Given the description of an element on the screen output the (x, y) to click on. 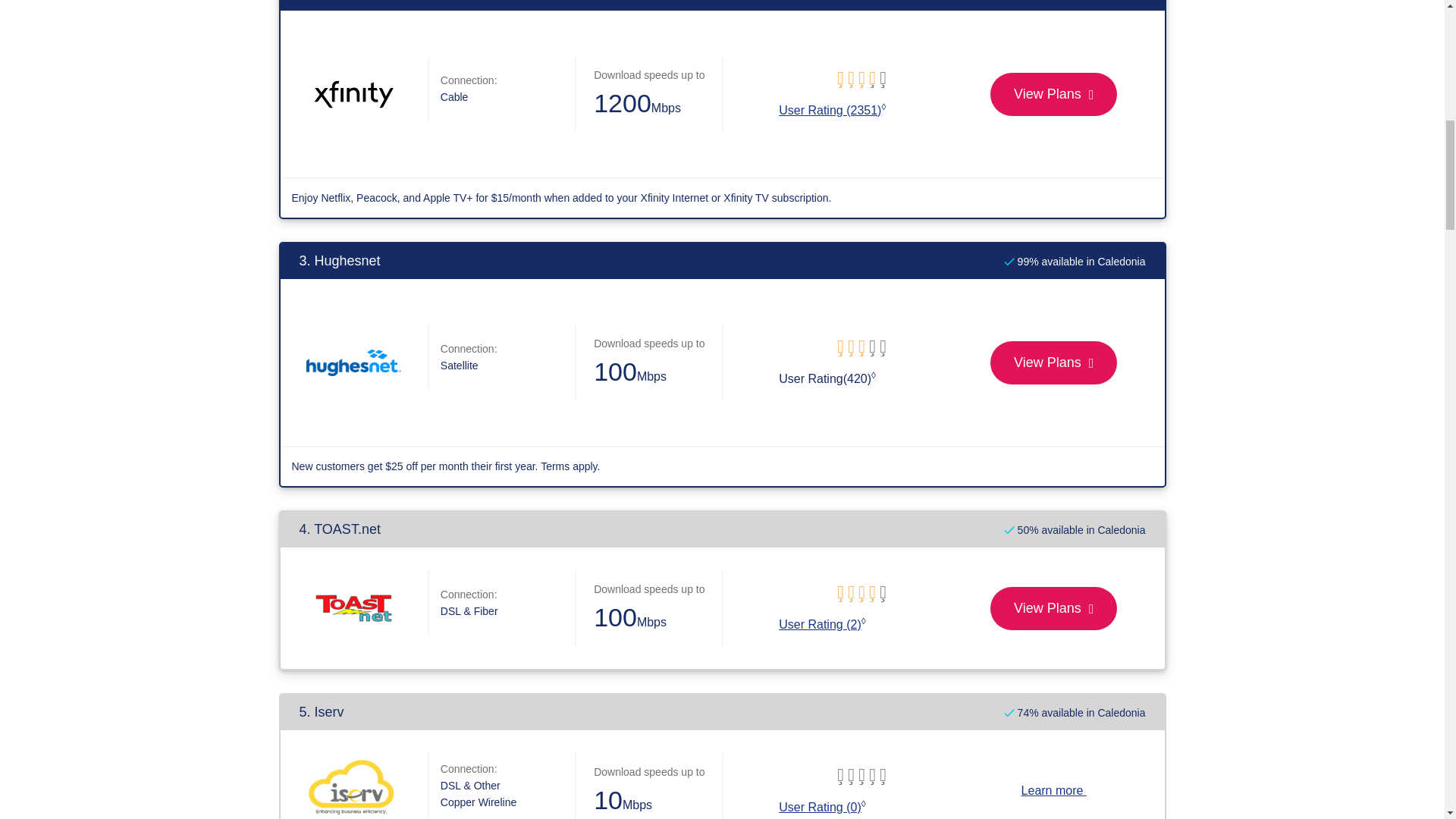
Learn more  (1054, 789)
View Plans (1053, 608)
View Plans (1053, 94)
View Plans (1053, 362)
